Given the description of an element on the screen output the (x, y) to click on. 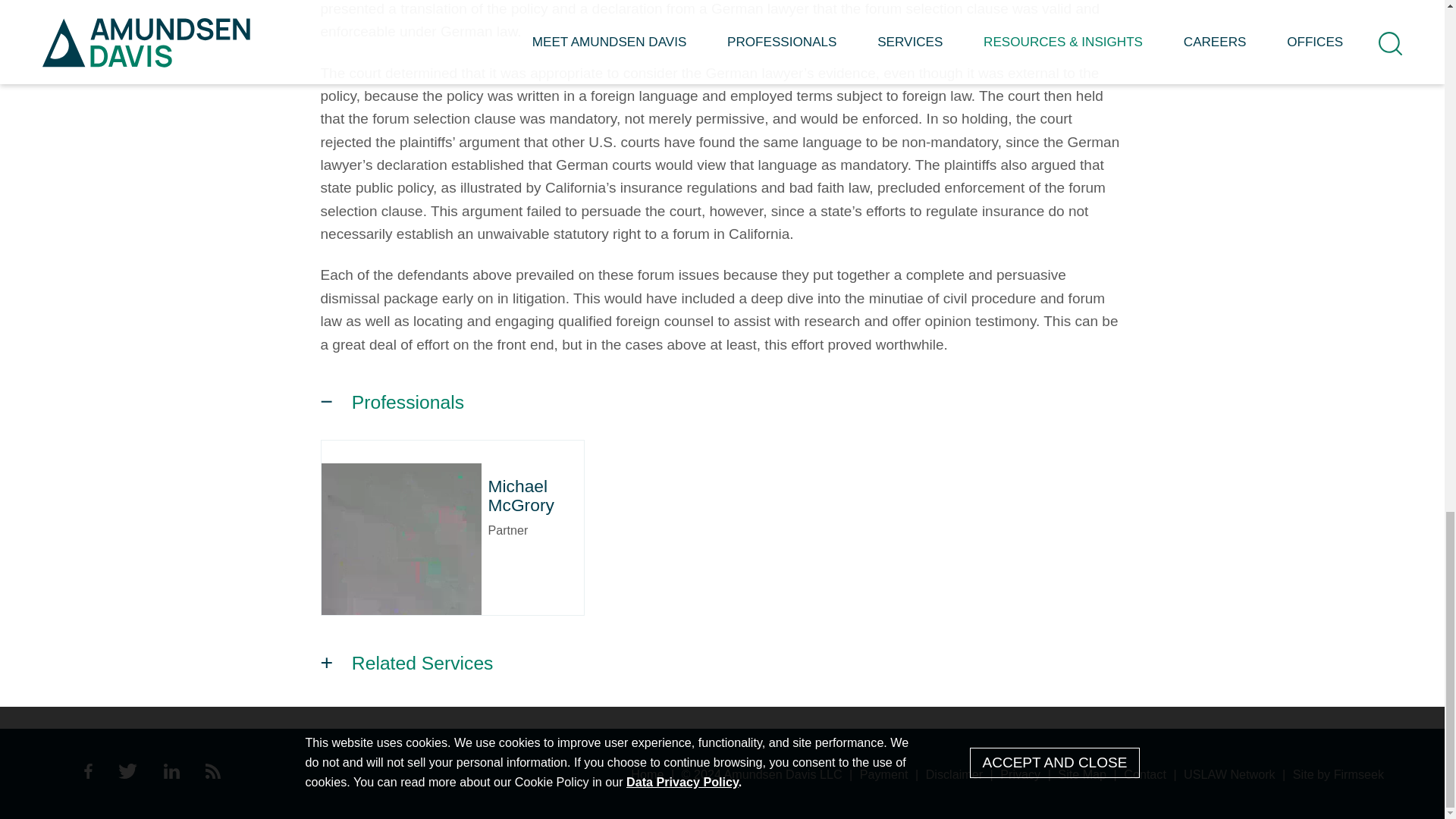
twitter (127, 773)
twitter Icon (126, 770)
RSS Icon (213, 770)
LinkedIn (171, 773)
LinkedIn Icon (171, 770)
